Given the description of an element on the screen output the (x, y) to click on. 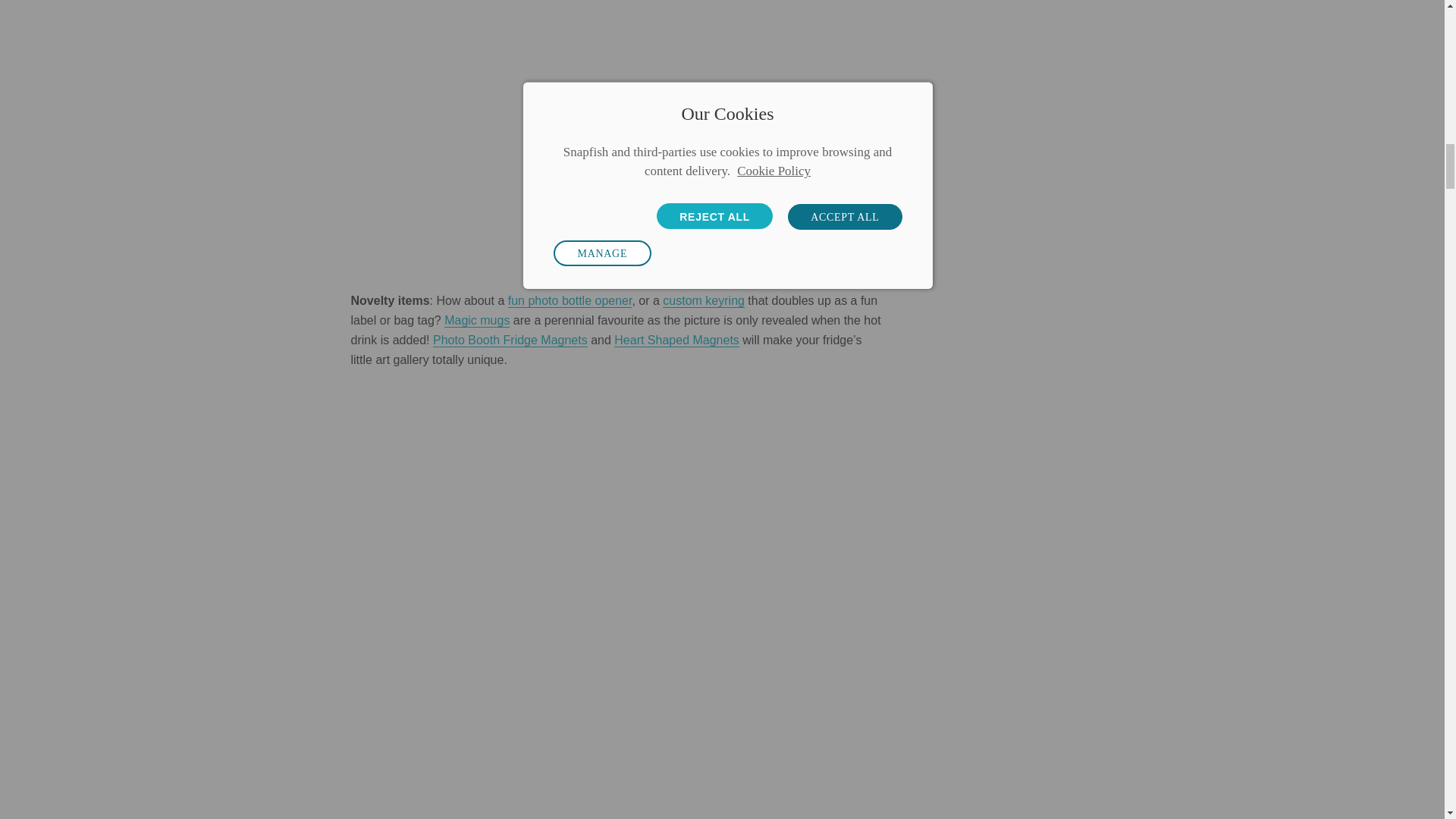
Heart Shaped Magnets (676, 340)
fun photo bottle opener (569, 300)
Photo Booth Fridge Magnets (510, 340)
custom keyring (703, 300)
Magic mugs (476, 320)
